Given the description of an element on the screen output the (x, y) to click on. 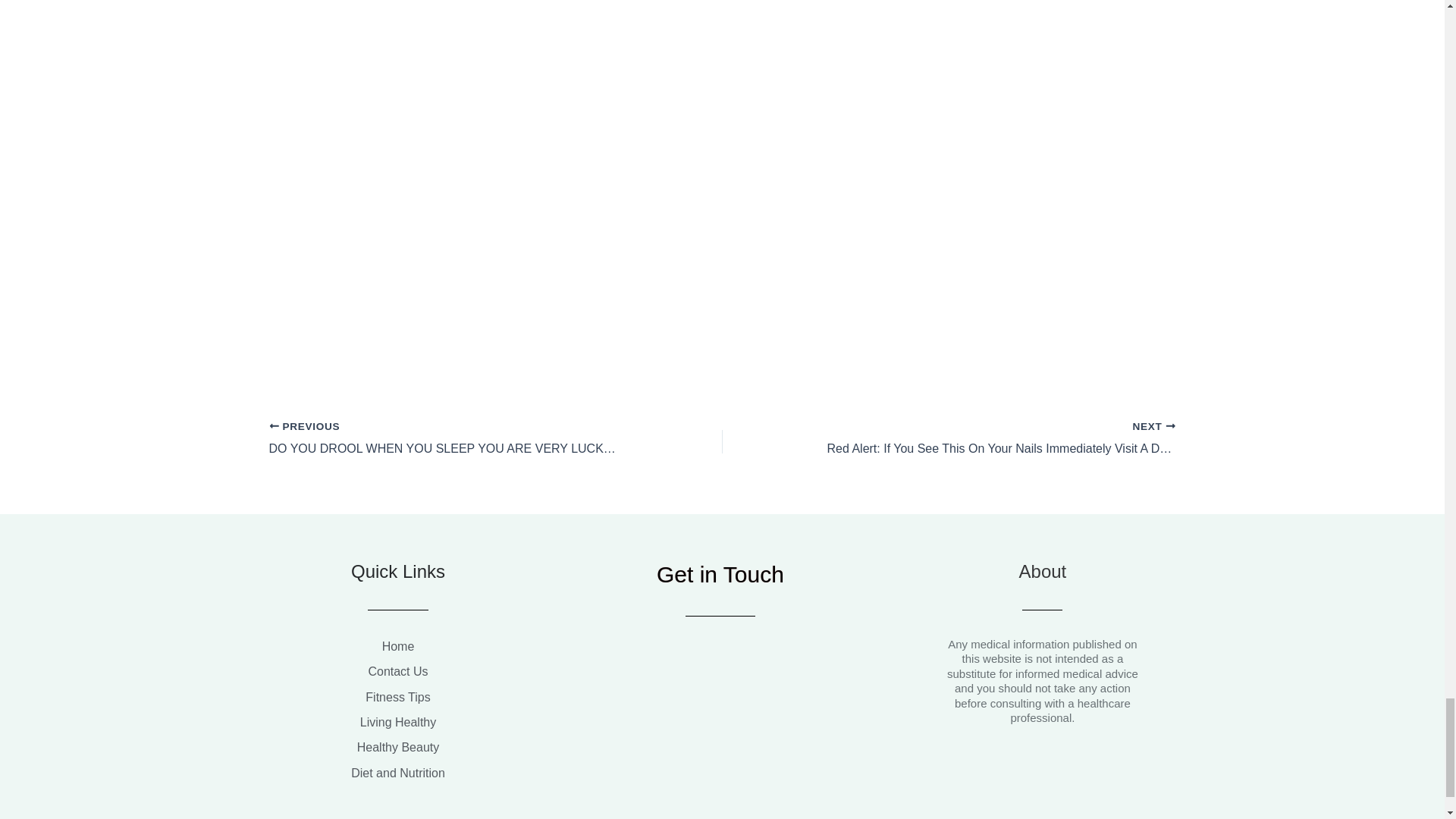
Home (397, 646)
Healthy Beauty (397, 747)
Diet and Nutrition (397, 772)
Contact Us (397, 671)
Fitness Tips (397, 697)
Living Healthy (397, 722)
